Given the description of an element on the screen output the (x, y) to click on. 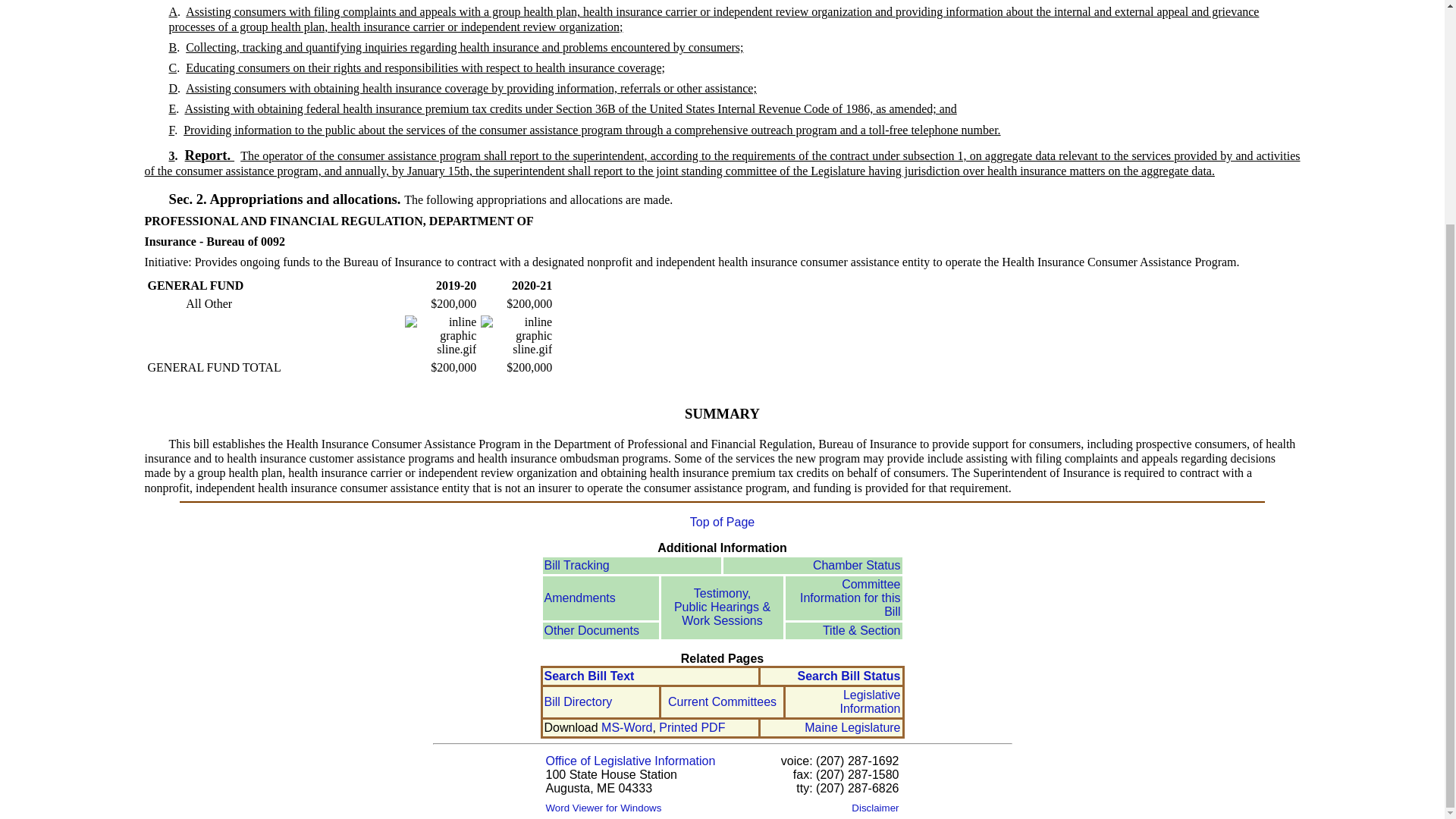
Search Bill Text (589, 675)
Word Viewer for Windows (604, 807)
Committee Information for this Bill (850, 598)
Disclaimer (874, 807)
Amendments (579, 597)
Office of Legislative Information (631, 760)
Chamber Status (856, 564)
Maine Legislature (852, 727)
Bill Directory (578, 701)
Top of Page (722, 521)
Other Documents (591, 630)
Bill Tracking (577, 564)
MS-Word (626, 727)
Current Committees (722, 701)
Search Bill Status (847, 675)
